Given the description of an element on the screen output the (x, y) to click on. 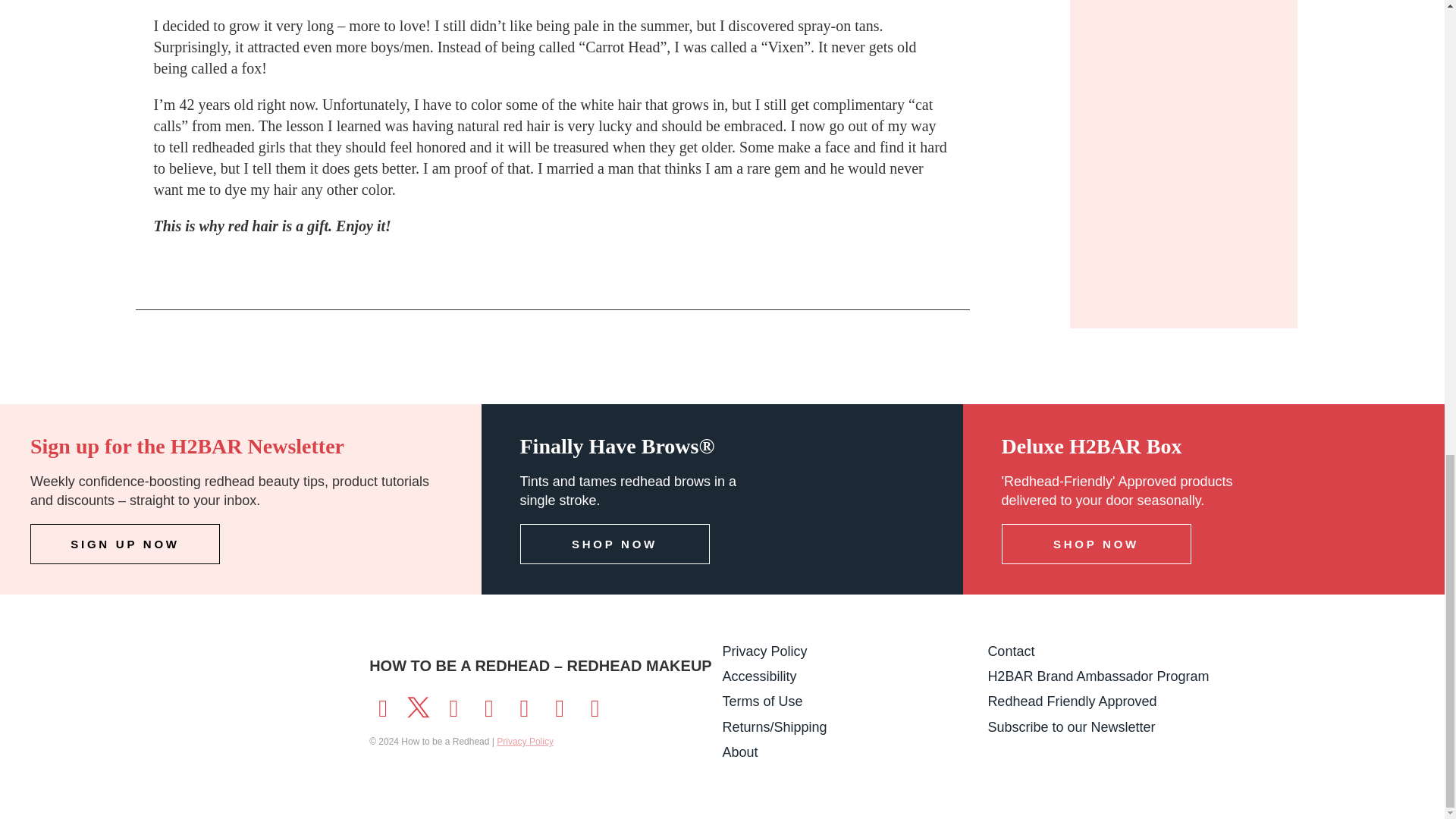
Instagram in a new window (453, 705)
Youtube in a new window (489, 705)
Facebook in a new window (382, 705)
Twitter in a new window (418, 705)
Snapchat in a new window (524, 705)
